Given the description of an element on the screen output the (x, y) to click on. 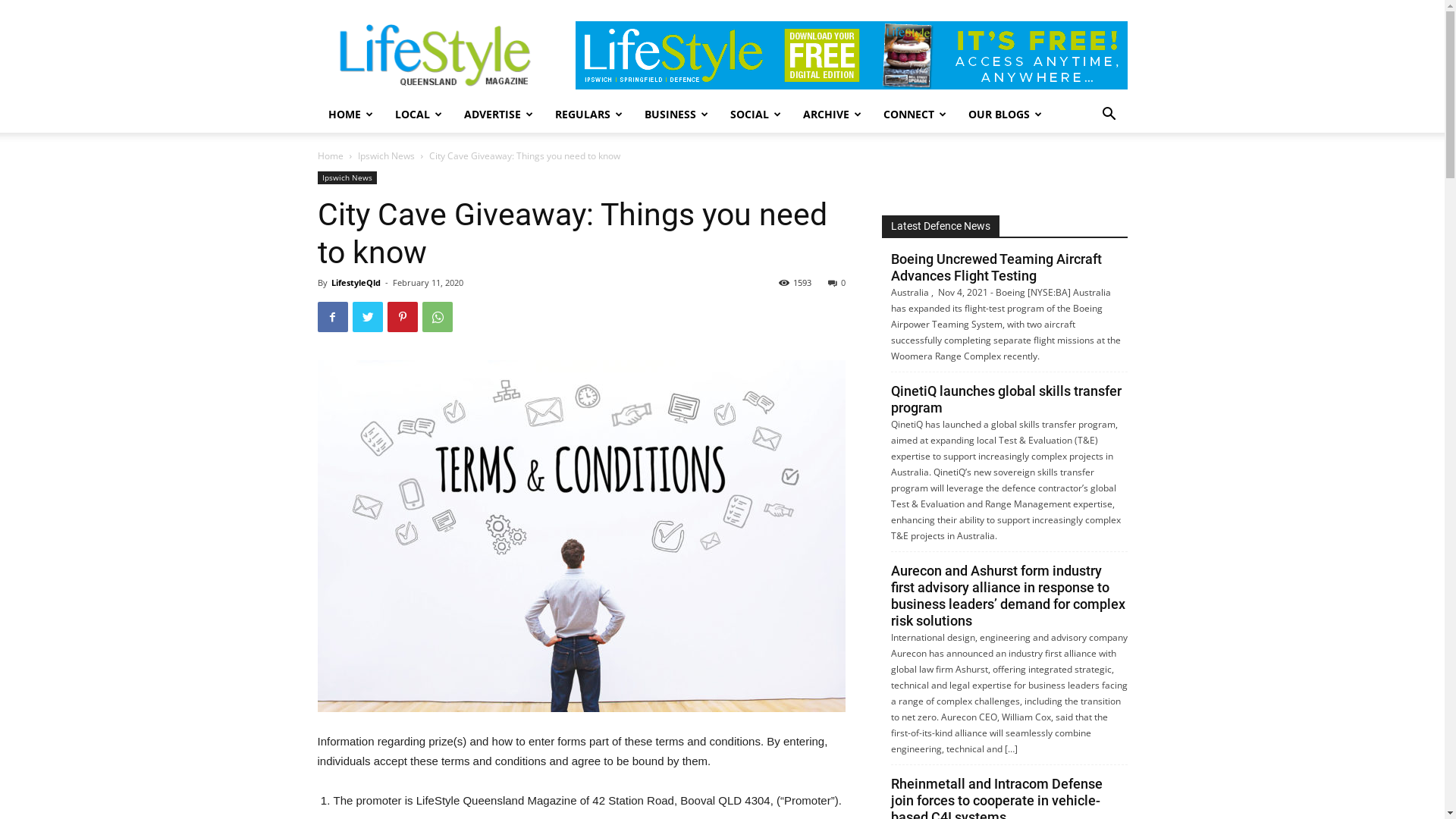
REGULARS Element type: text (588, 114)
Home Element type: text (329, 155)
SOCIAL Element type: text (754, 114)
HOME Element type: text (349, 114)
LifestyleQld Element type: text (354, 282)
Ipswich News Element type: text (385, 155)
QinetiQ launches global skills transfer program Element type: text (1005, 401)
0 Element type: text (836, 282)
CONNECT Element type: text (914, 114)
Latest Defence News Element type: text (939, 225)
ADVERTISE Element type: text (498, 114)
shutterstock_580698631 Element type: hover (580, 536)
Ipswich News Element type: text (346, 177)
LOCAL Element type: text (417, 114)
BUSINESS Element type: text (676, 114)
Search Element type: text (1085, 175)
Boeing Uncrewed Teaming Aircraft Advances Flight Testing Element type: text (995, 269)
OUR BLOGS Element type: text (1004, 114)
ARCHIVE Element type: text (831, 114)
